Given the description of an element on the screen output the (x, y) to click on. 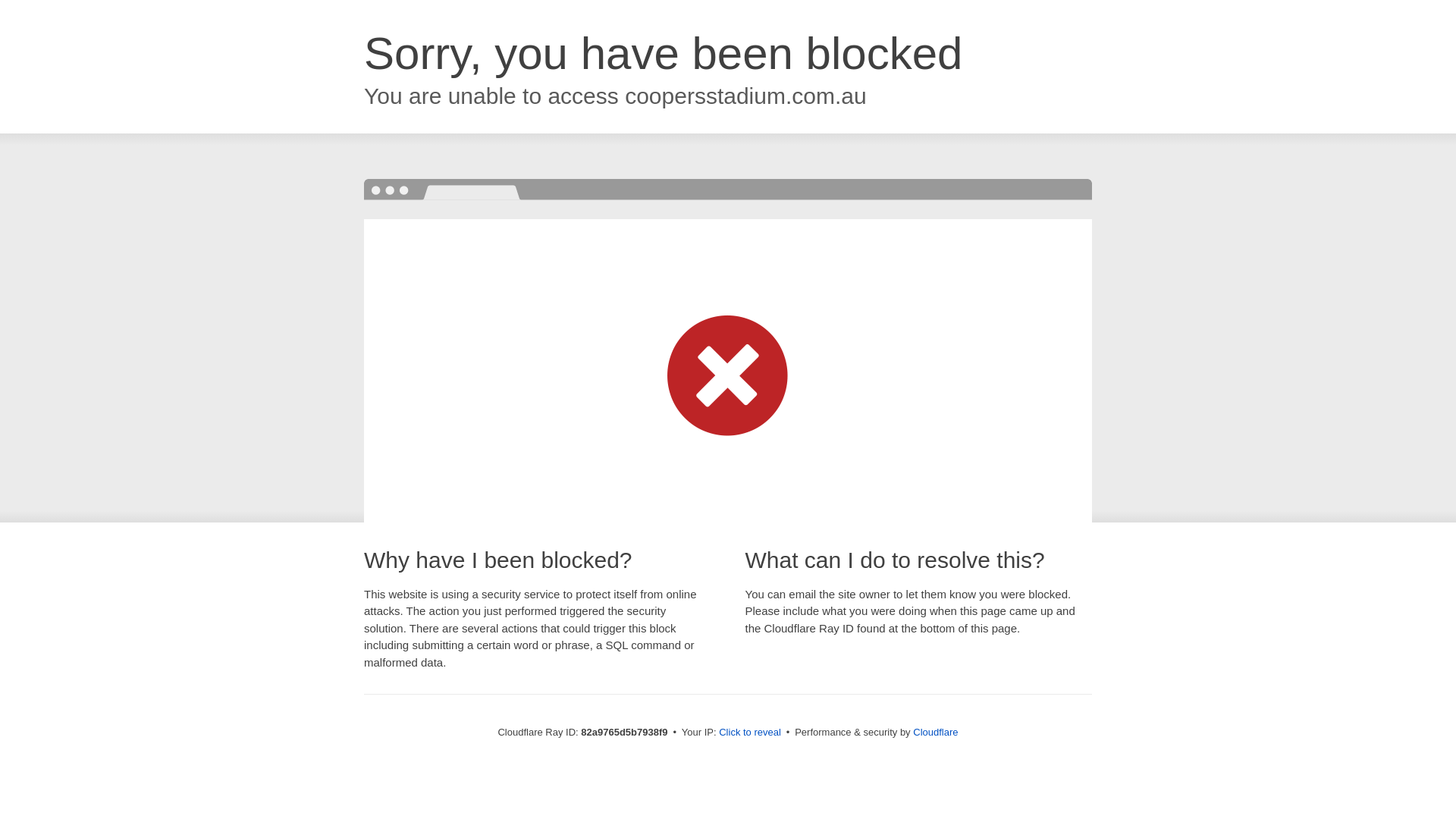
Cloudflare Element type: text (935, 731)
Click to reveal Element type: text (749, 732)
